Given the description of an element on the screen output the (x, y) to click on. 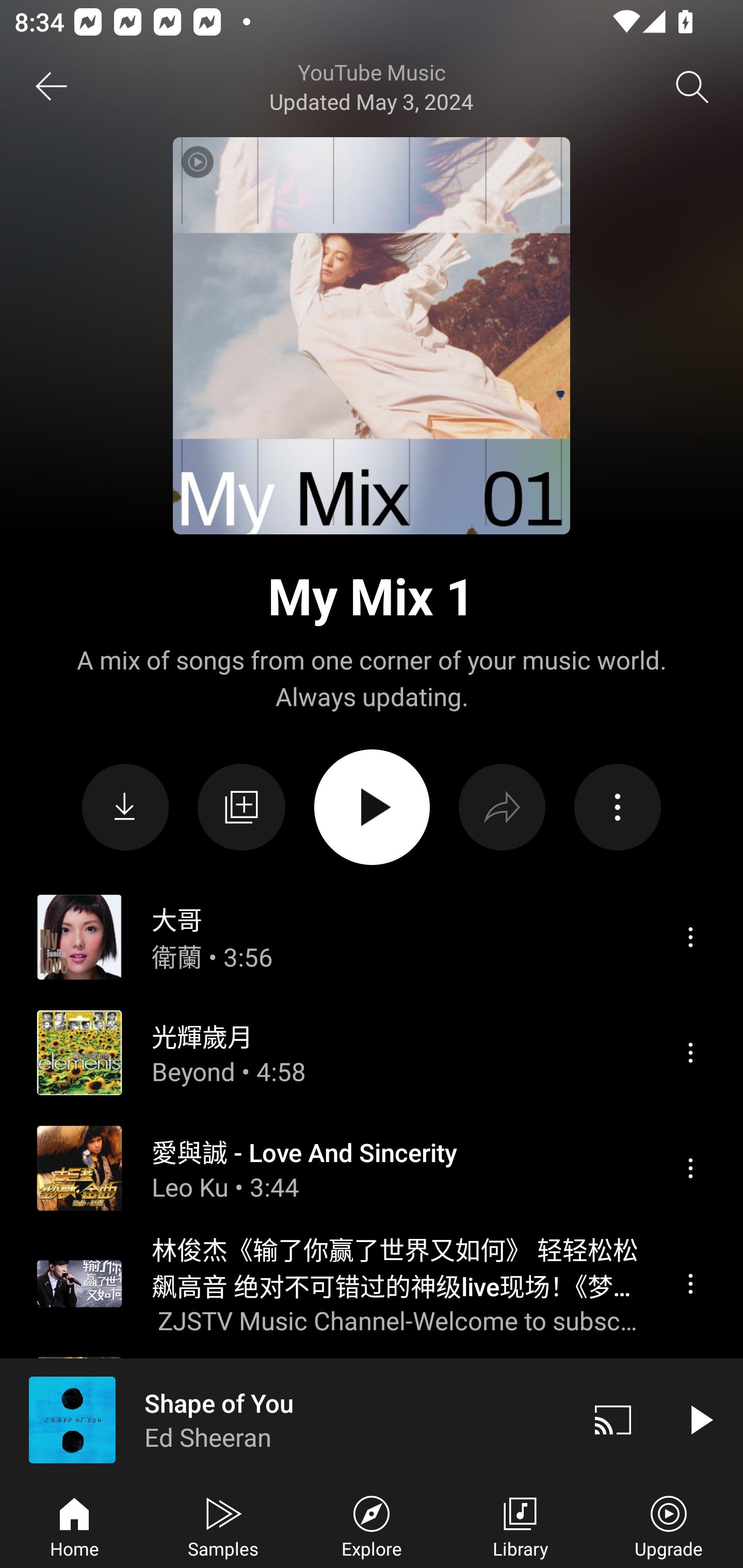
Back (50, 86)
Search (692, 86)
PLAY ALL (371, 807)
Download (125, 807)
Sharing unavailable (501, 807)
Action menu (617, 807)
Save to library (241, 806)
Menu (690, 937)
Menu (690, 1052)
Menu (690, 1168)
Menu (690, 1284)
Shape of You Ed Sheeran (284, 1419)
Cast. Disconnected (612, 1419)
Play video (699, 1419)
Home (74, 1524)
Samples (222, 1524)
Explore (371, 1524)
Library (519, 1524)
Upgrade (668, 1524)
